Given the description of an element on the screen output the (x, y) to click on. 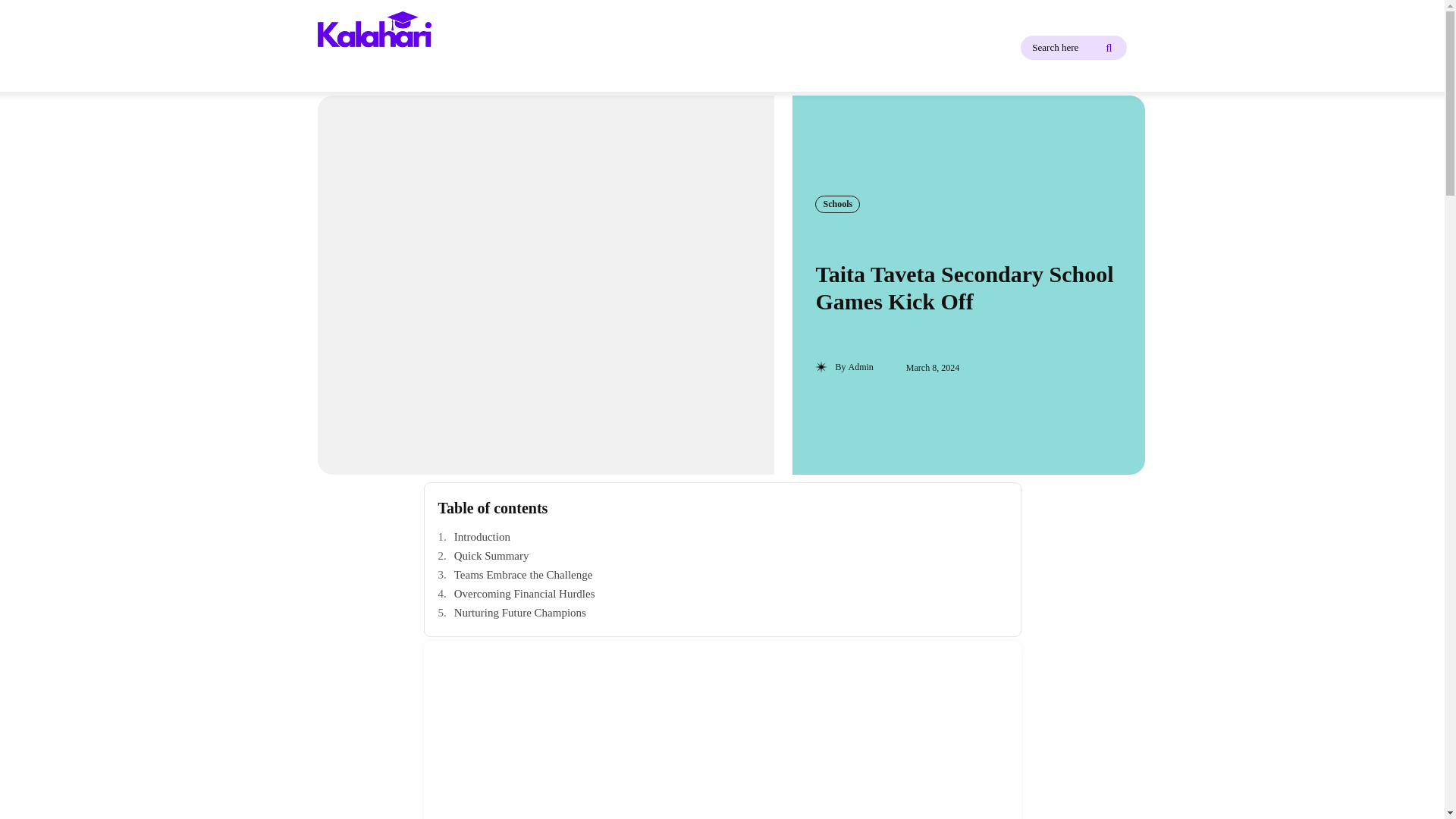
Admin (859, 366)
Teams Embrace the Challenge (722, 575)
Introduction (722, 537)
Quick Summary (722, 555)
Schools (837, 203)
Nurturing Future Champions (722, 612)
Overcoming Financial Hurdles (722, 593)
